Given the description of an element on the screen output the (x, y) to click on. 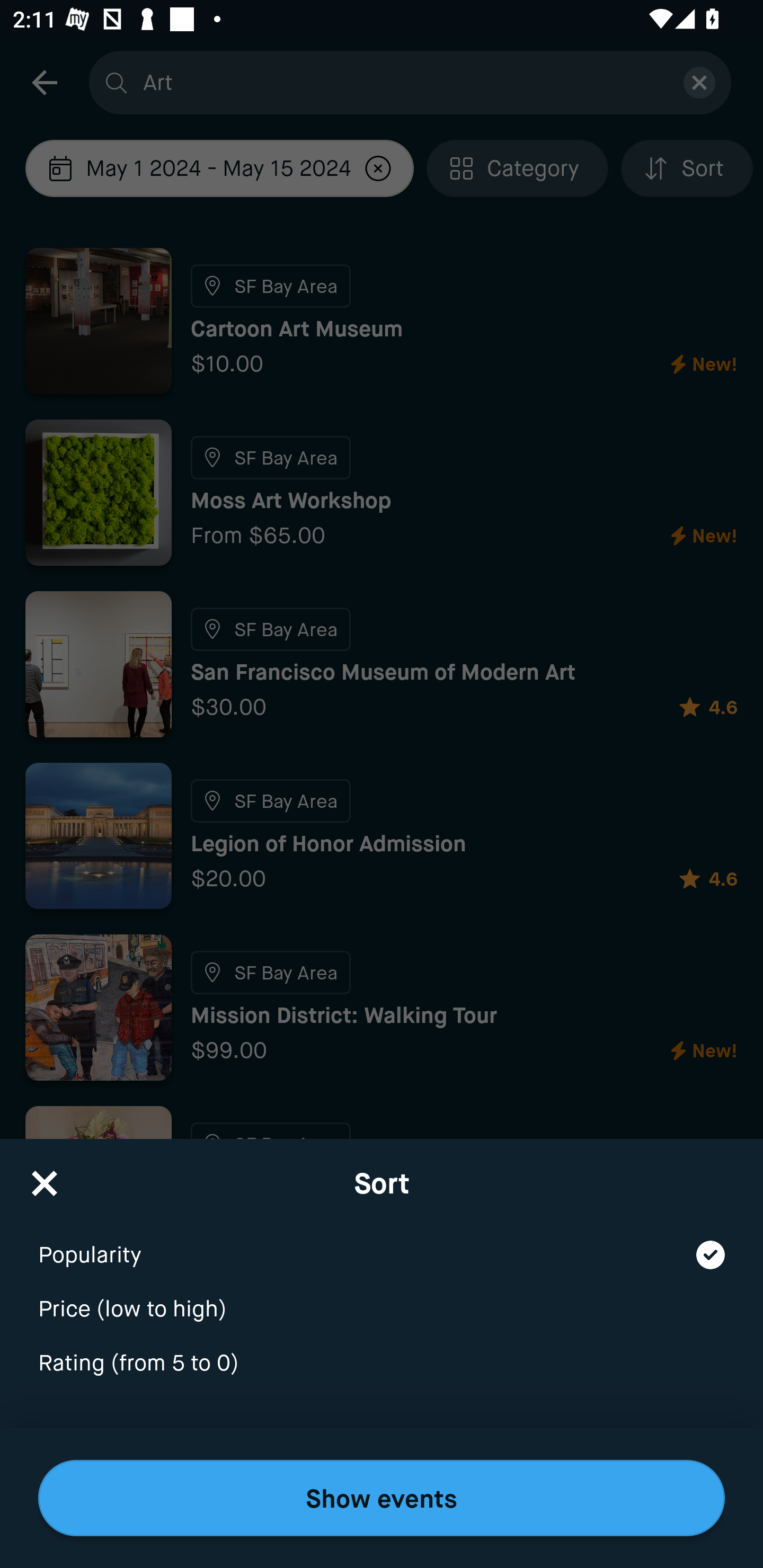
CloseButton (44, 1177)
Popularity Selected Icon (381, 1243)
Price (low to high) (381, 1297)
Rating (from 5 to 0) (381, 1362)
Show events (381, 1497)
